Given the description of an element on the screen output the (x, y) to click on. 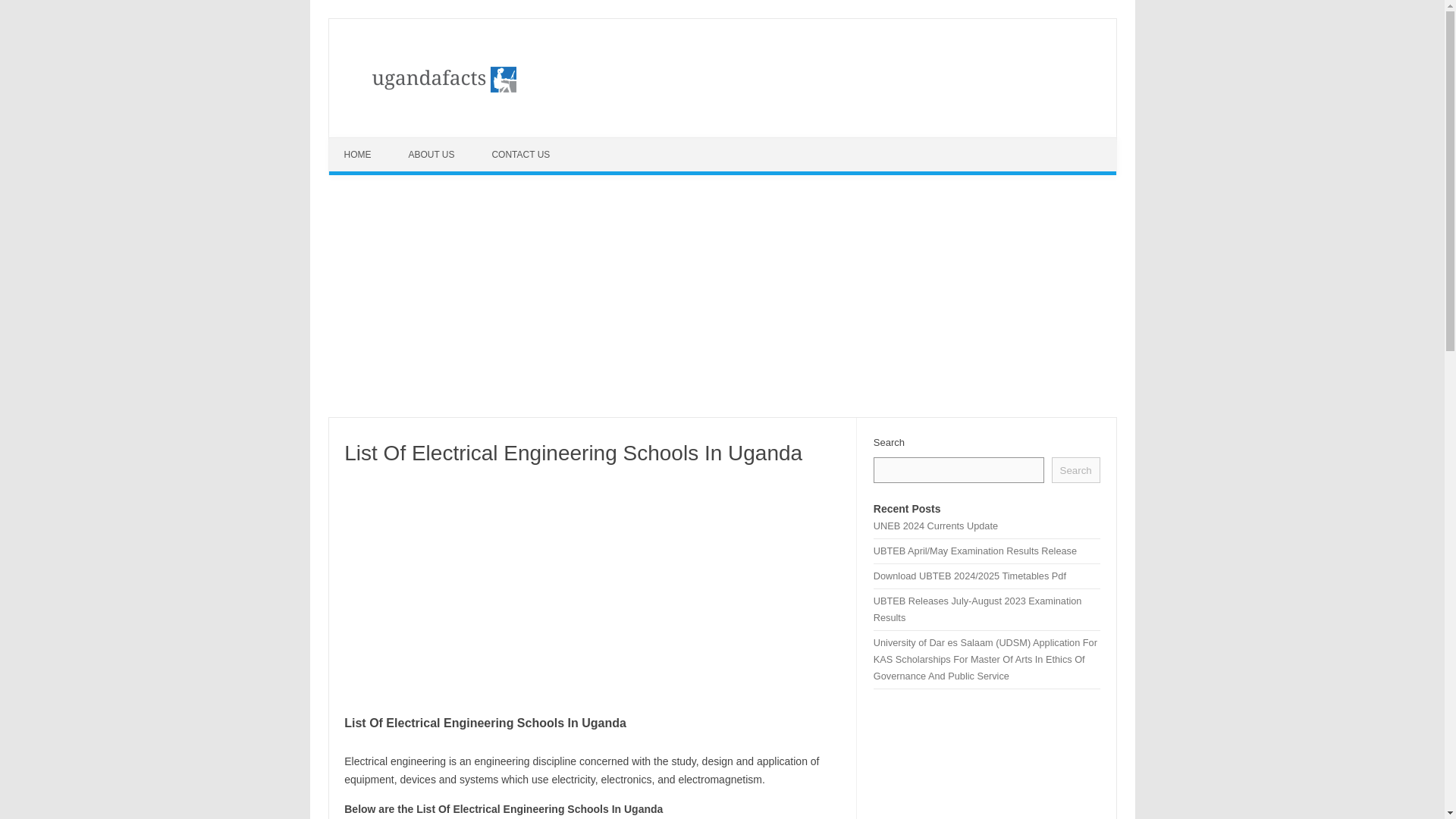
Advertisement (986, 761)
Advertisement (591, 587)
UBTEB Releases July-August 2023 Examination Results (977, 609)
Skip to content (363, 142)
HOME (359, 154)
Search (1075, 470)
CONTACT US (522, 154)
UNEB 2024 Currents Update (935, 525)
ABOUT US (433, 154)
Skip to content (363, 142)
